Given the description of an element on the screen output the (x, y) to click on. 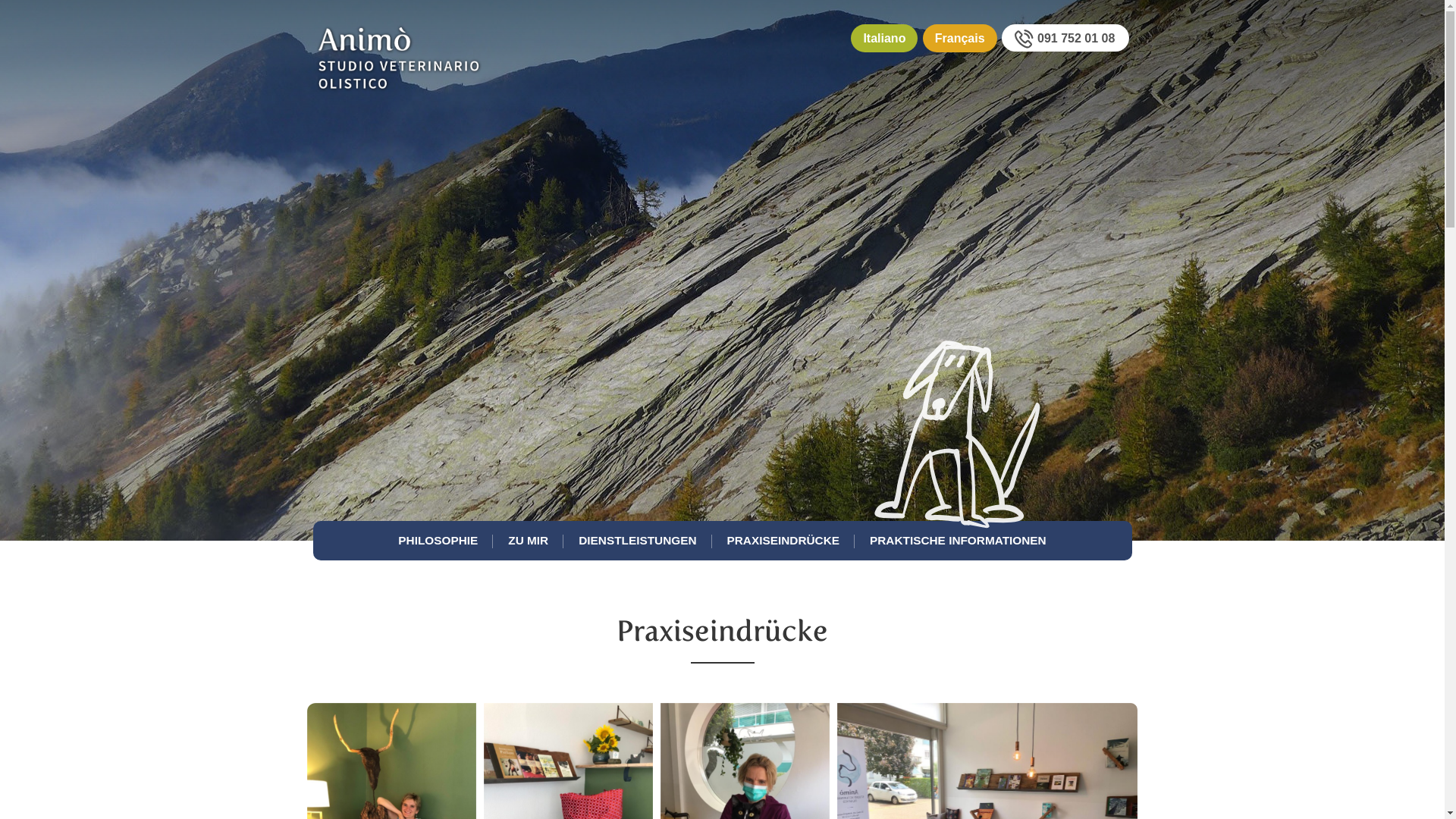
Italiano Element type: text (883, 38)
ZU MIR Element type: text (527, 540)
Logo Element type: text (398, 77)
091 752 01 08 Element type: text (1065, 37)
PRAKTISCHE INFORMATIONEN Element type: text (957, 540)
DIENSTLEISTUNGEN Element type: text (637, 540)
PHILOSOPHIE Element type: text (437, 540)
